Given the description of an element on the screen output the (x, y) to click on. 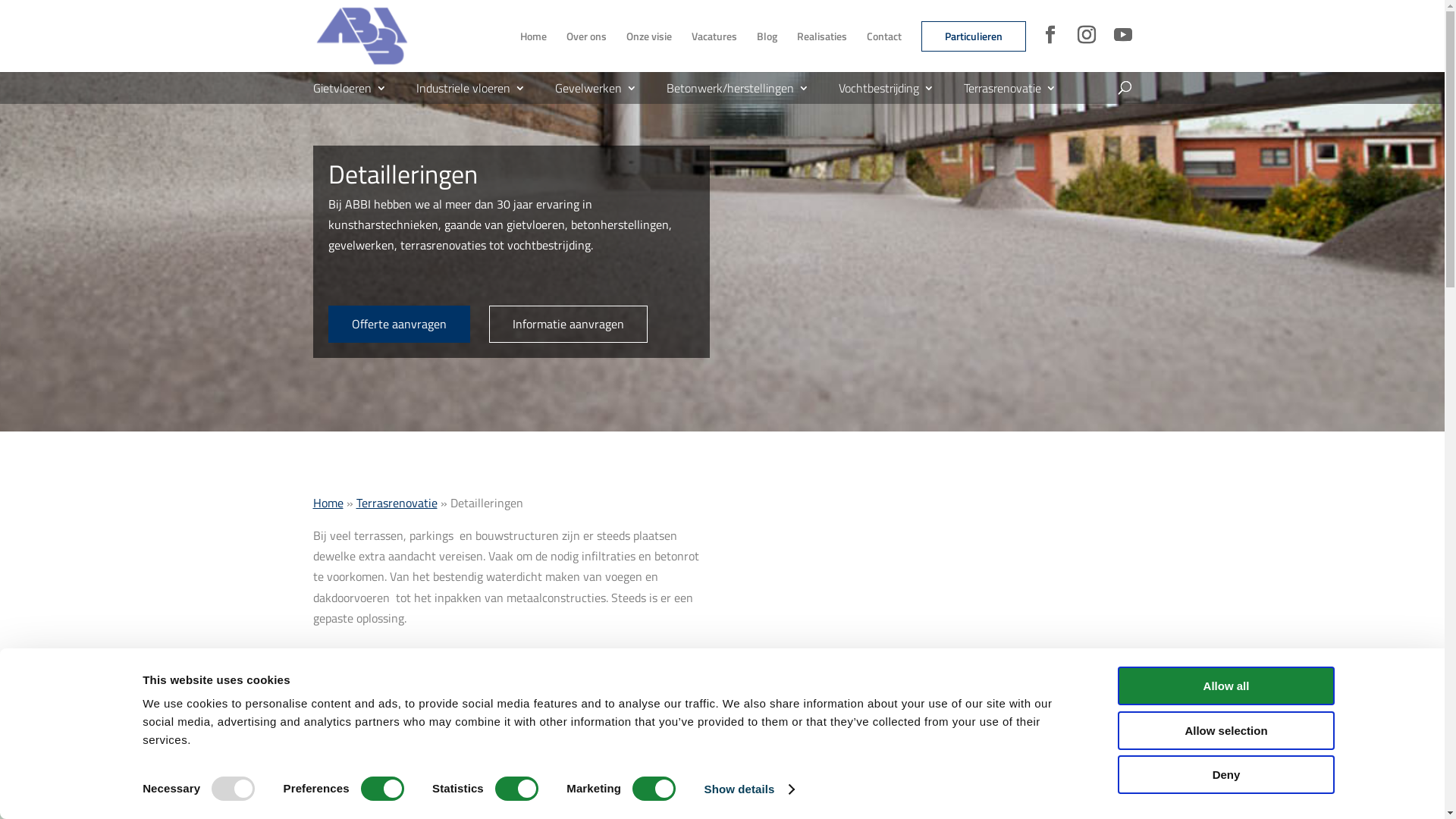
Blog Element type: text (766, 35)
Gietvloeren Element type: text (348, 87)
Realisaties Element type: text (821, 35)
Home Element type: text (327, 502)
Vacatures Element type: text (714, 35)
Industriele vloeren Element type: text (469, 87)
Allow selection Element type: text (1225, 730)
Instagram Element type: hover (1085, 34)
RSS Element type: hover (1122, 34)
Show details Element type: text (748, 789)
Facebook Element type: hover (1049, 34)
Onze visie Element type: text (648, 35)
Terrasrenovatie Element type: text (1009, 87)
Home Element type: text (533, 35)
Over ons Element type: text (585, 35)
Betonwerk/herstellingen Element type: text (736, 87)
Allow all Element type: text (1225, 685)
Terrasrenovatie Element type: text (396, 502)
Contact Element type: text (883, 35)
Deny Element type: text (1225, 774)
Informatie aanvragen Element type: text (567, 323)
Particulieren Element type: text (973, 35)
Offerte aanvragen Element type: text (398, 323)
Vochtbestrijding Element type: text (886, 87)
Gevelwerken Element type: text (596, 87)
